Given the description of an element on the screen output the (x, y) to click on. 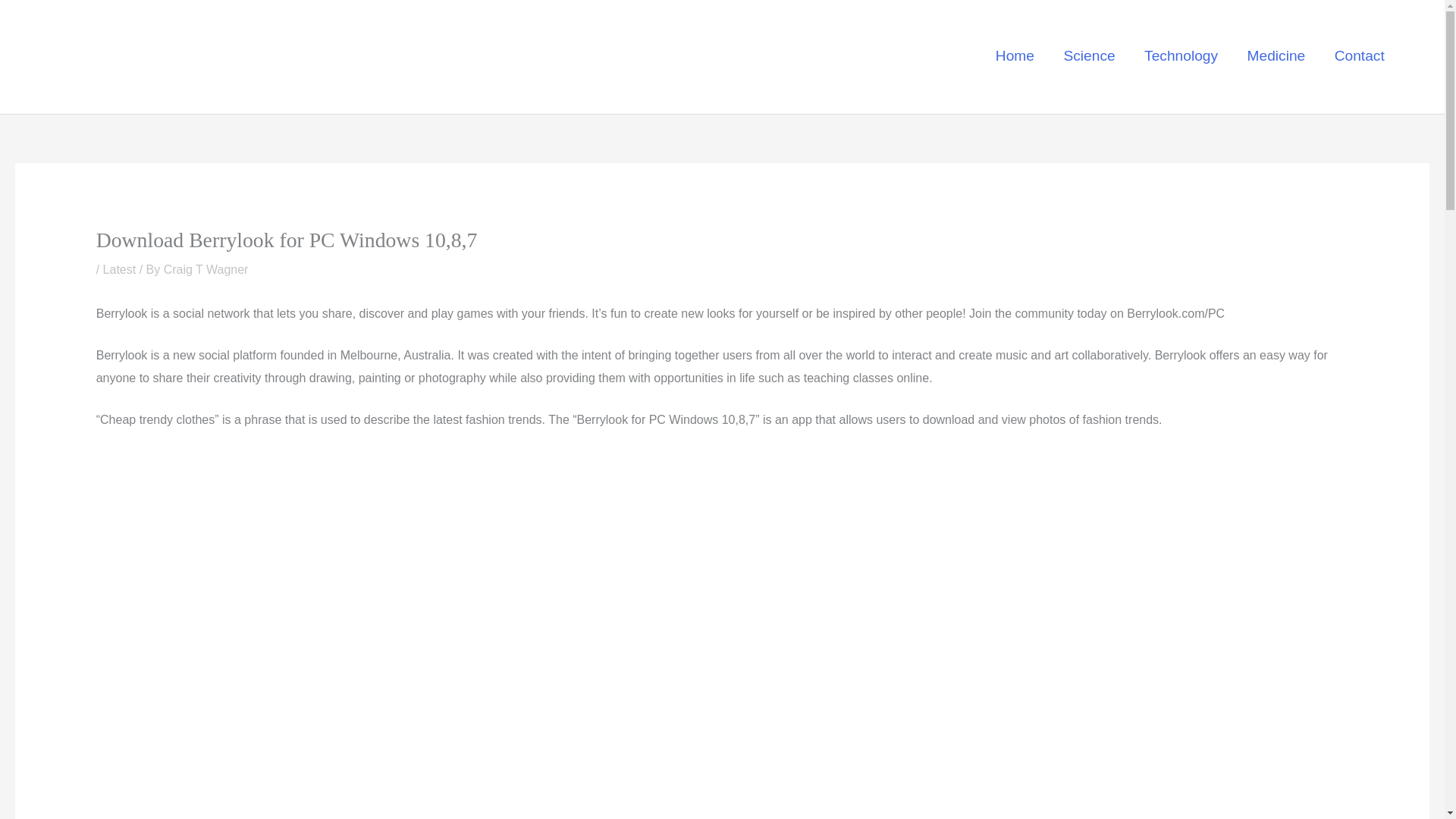
Home (1015, 55)
Contact (1359, 55)
Science (1088, 55)
View all posts by Craig T Wagner (205, 269)
Technology (1180, 55)
Medicine (1275, 55)
Latest (119, 269)
Craig T Wagner (205, 269)
